Given the description of an element on the screen output the (x, y) to click on. 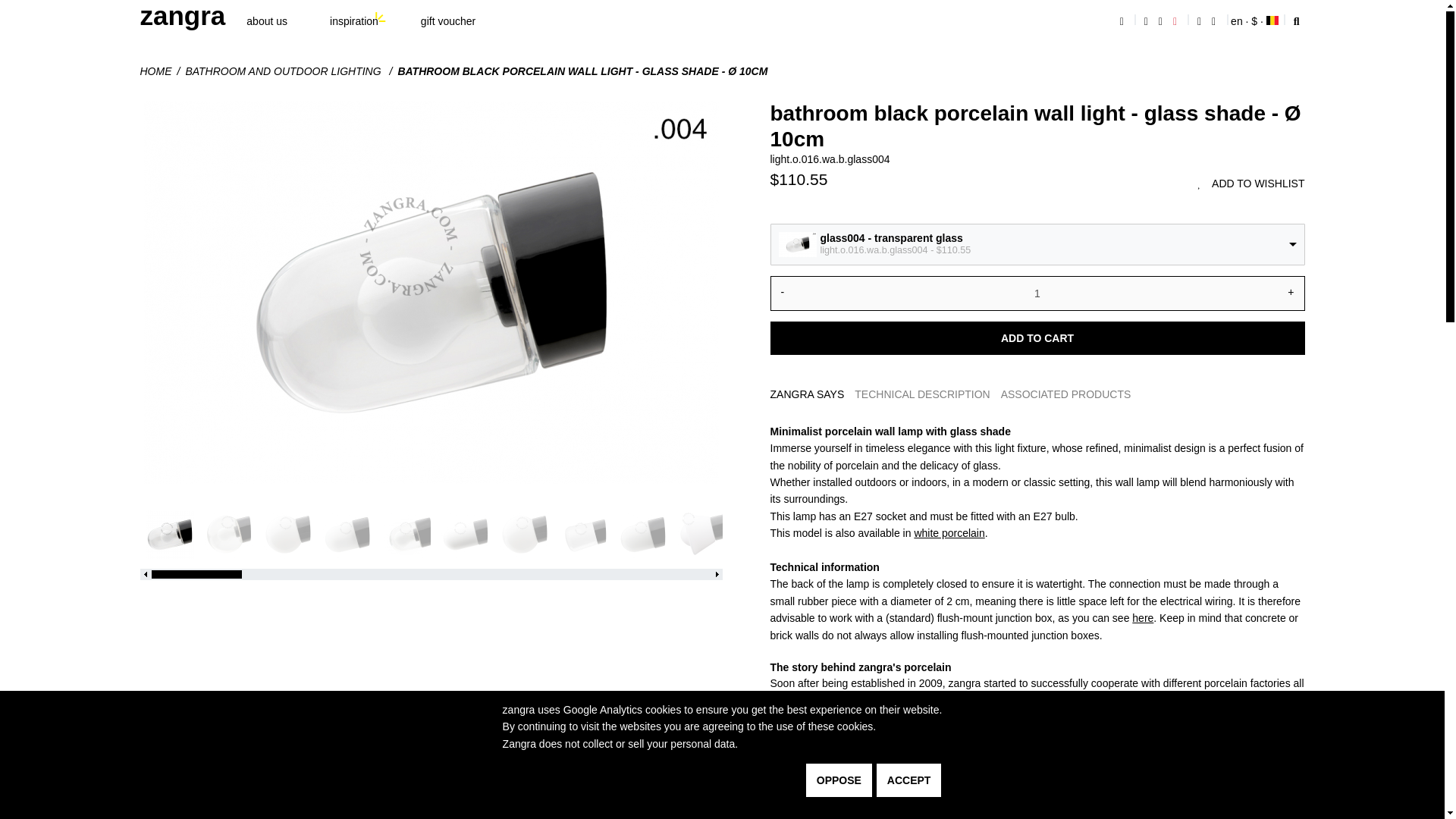
TECHNICAL DESCRIPTION (922, 394)
zangra (182, 15)
white porcelain (949, 532)
My account (1146, 21)
Search (1296, 21)
HOME (161, 71)
ZANGRA SAYS (807, 394)
gift voucher (447, 21)
ASSOCIATED PRODUCTS (1066, 394)
Home (1123, 21)
zangra (182, 15)
about us (266, 21)
Faq (1199, 21)
wishlist (1176, 21)
contact (1215, 21)
